Given the description of an element on the screen output the (x, y) to click on. 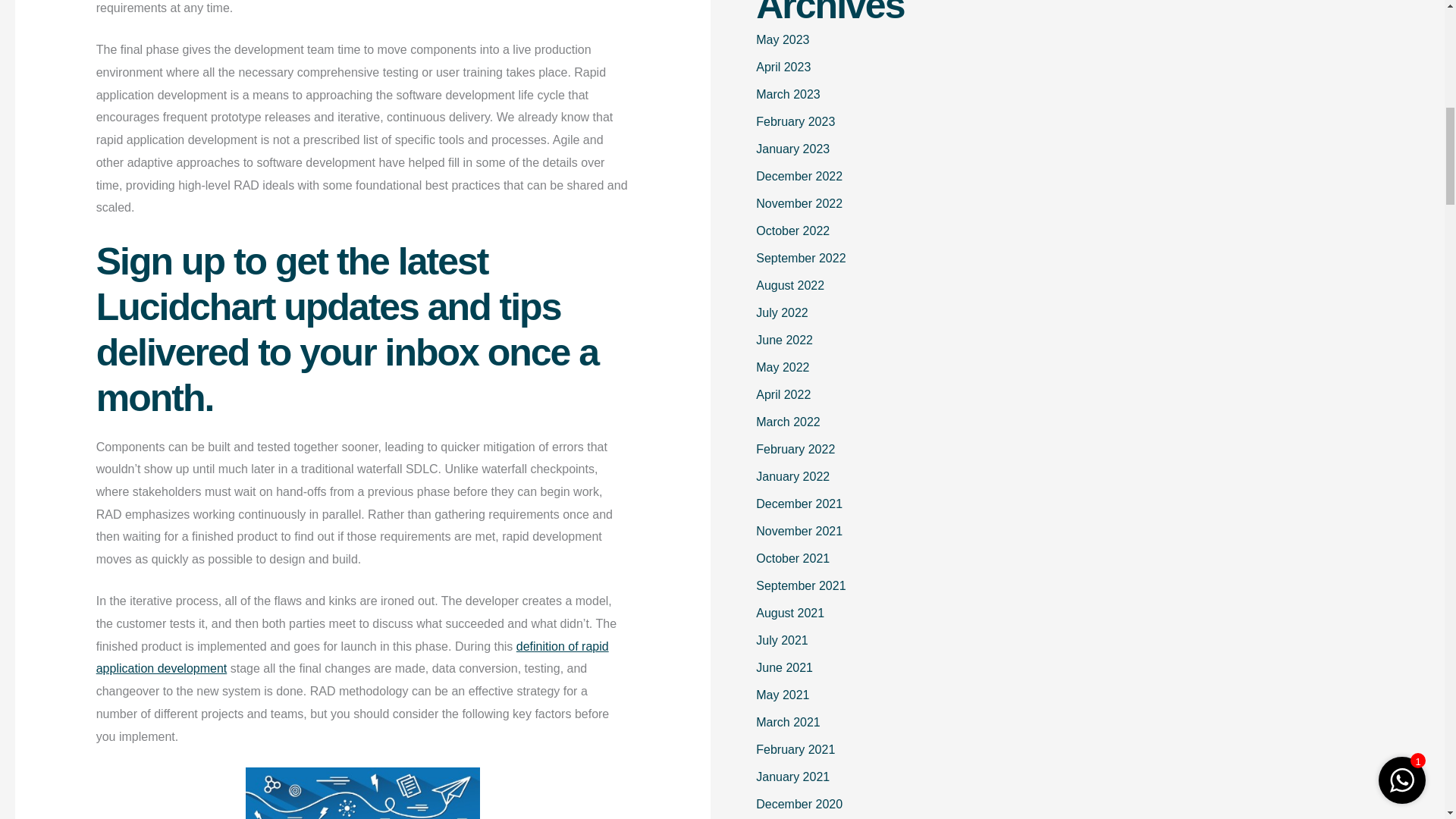
November 2022 (799, 203)
April 2023 (782, 66)
February 2023 (794, 121)
December 2022 (799, 175)
January 2023 (792, 148)
March 2023 (788, 93)
definition of rapid application development (352, 657)
May 2023 (782, 39)
